Given the description of an element on the screen output the (x, y) to click on. 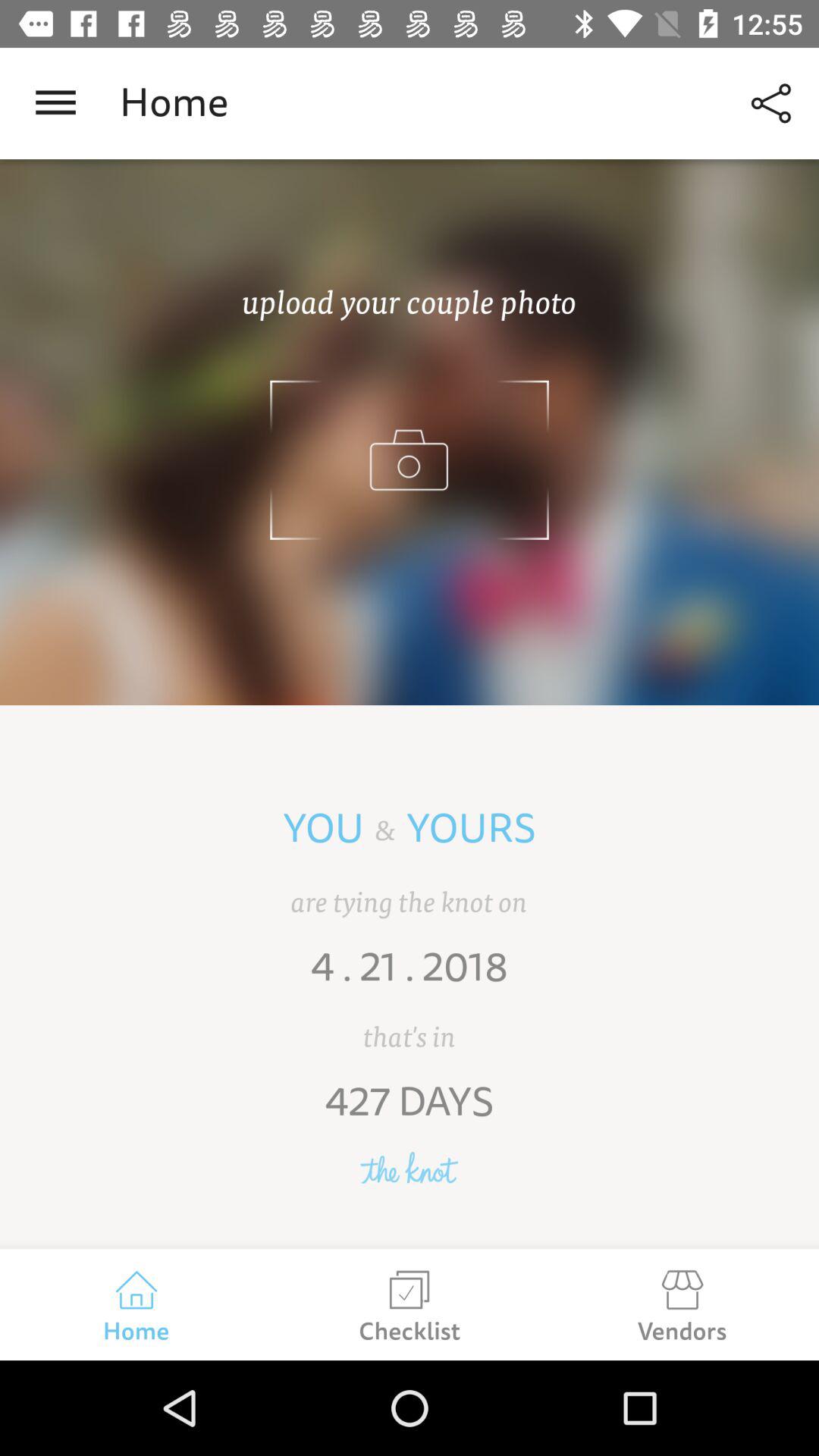
click icon below are tying the item (409, 977)
